Given the description of an element on the screen output the (x, y) to click on. 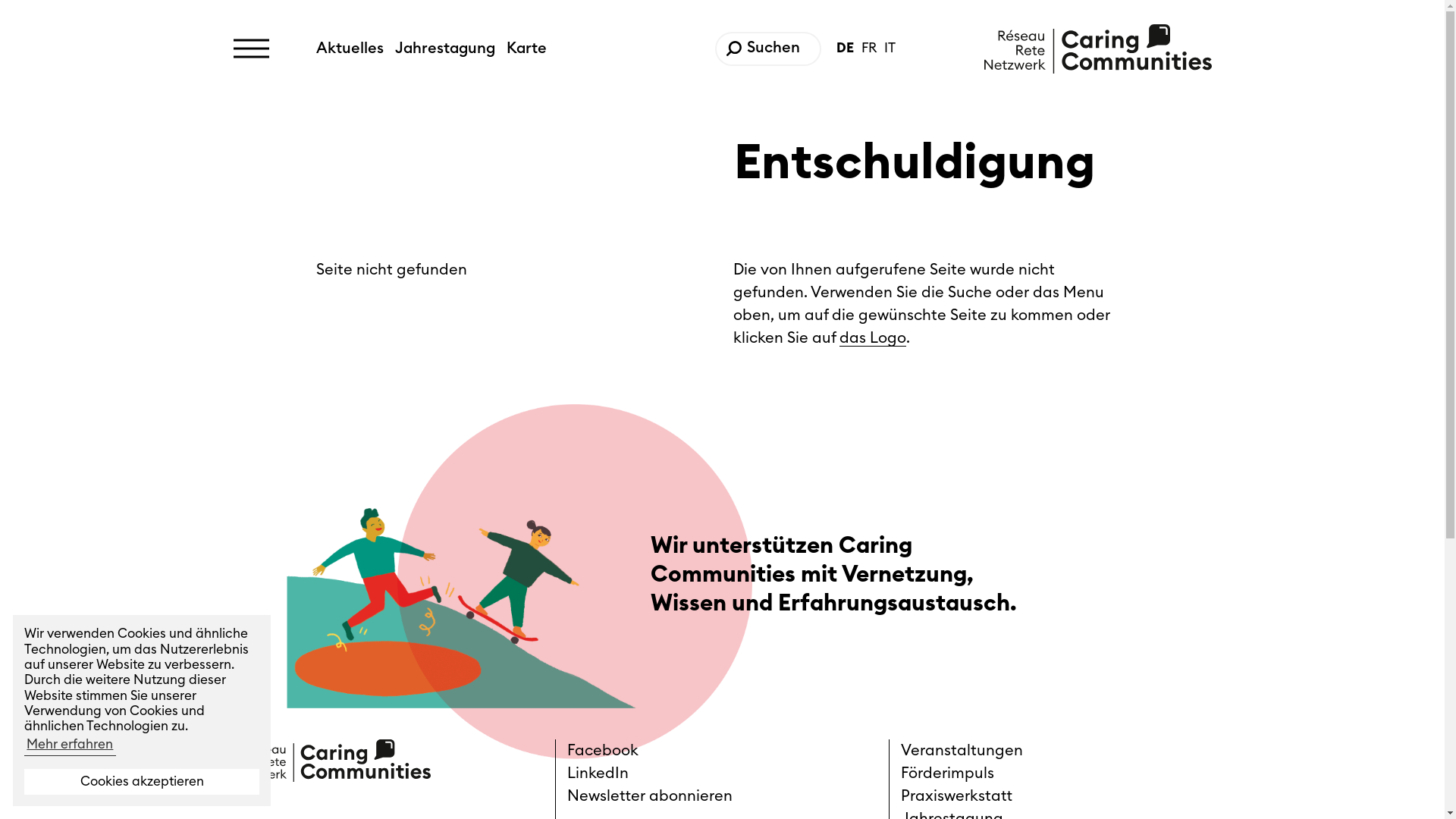
Mehr erfahren Element type: text (70, 745)
IT Element type: text (889, 48)
Karte Element type: text (526, 48)
Facebook Element type: text (722, 750)
FR Element type: text (872, 48)
Cookies akzeptieren Element type: text (141, 781)
LinkedIn Element type: text (722, 773)
DE Element type: text (848, 48)
Jahrestagung Element type: text (450, 48)
Newsletter abonnieren Element type: text (722, 795)
Aktuelles Element type: text (355, 48)
Suchen Element type: text (733, 48)
das Logo Element type: text (872, 338)
Praxiswerkstatt Element type: text (1055, 795)
Veranstaltungen Element type: text (1055, 750)
